Given the description of an element on the screen output the (x, y) to click on. 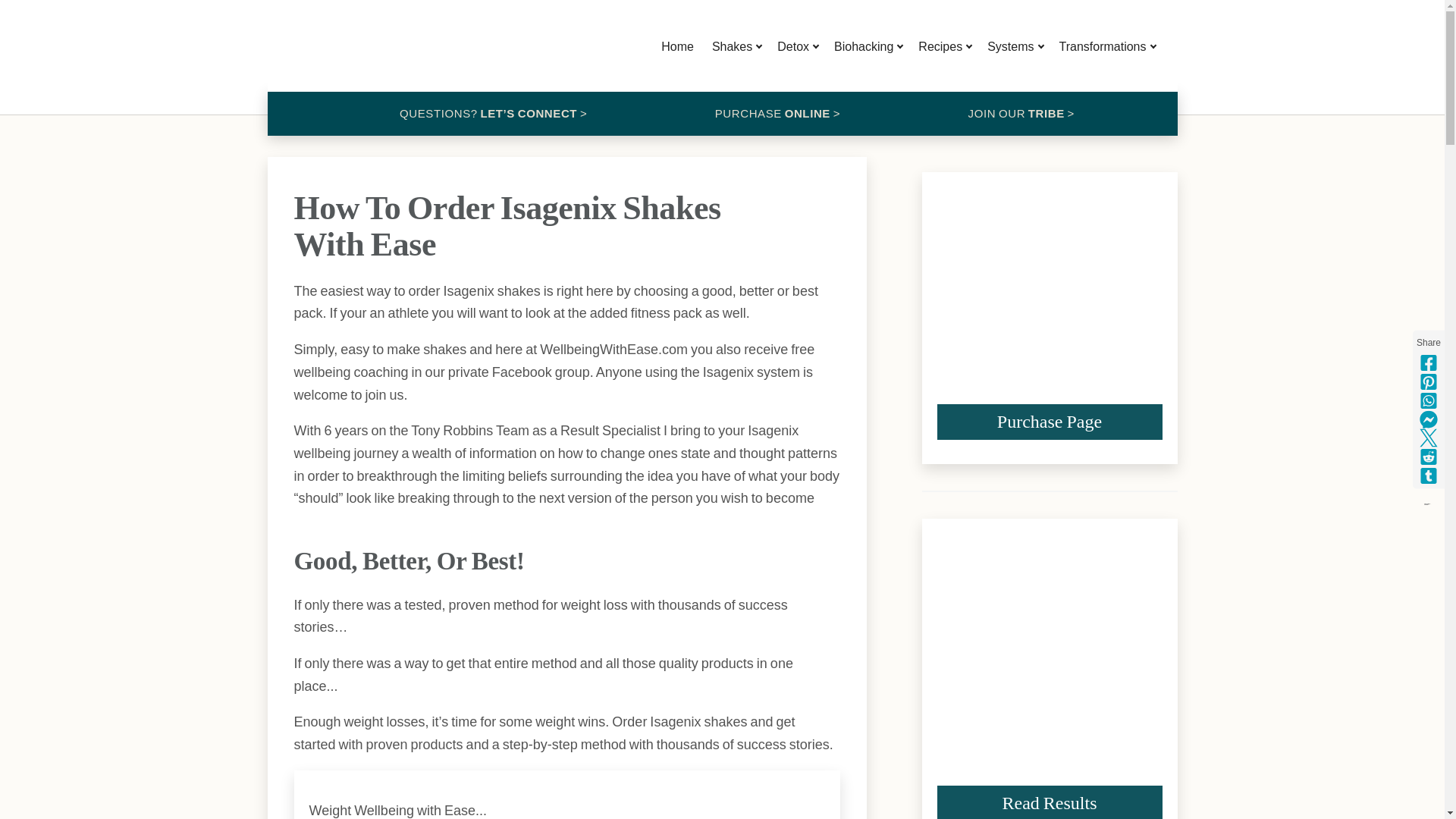
Home (677, 46)
